Given the description of an element on the screen output the (x, y) to click on. 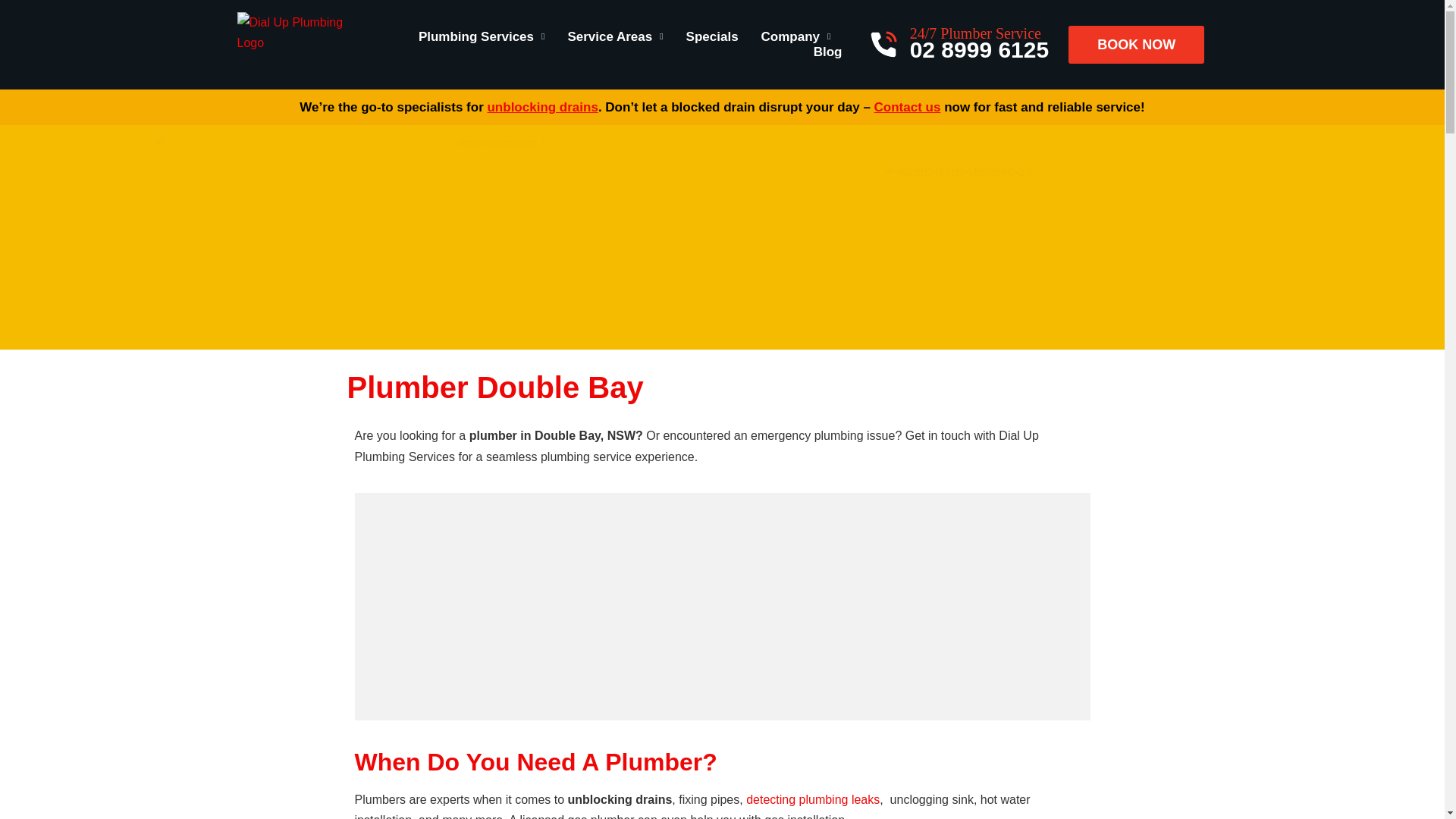
Service Areas (614, 37)
Specials (711, 37)
Plumbing Services (481, 37)
Company (796, 37)
Blog (828, 52)
